Given the description of an element on the screen output the (x, y) to click on. 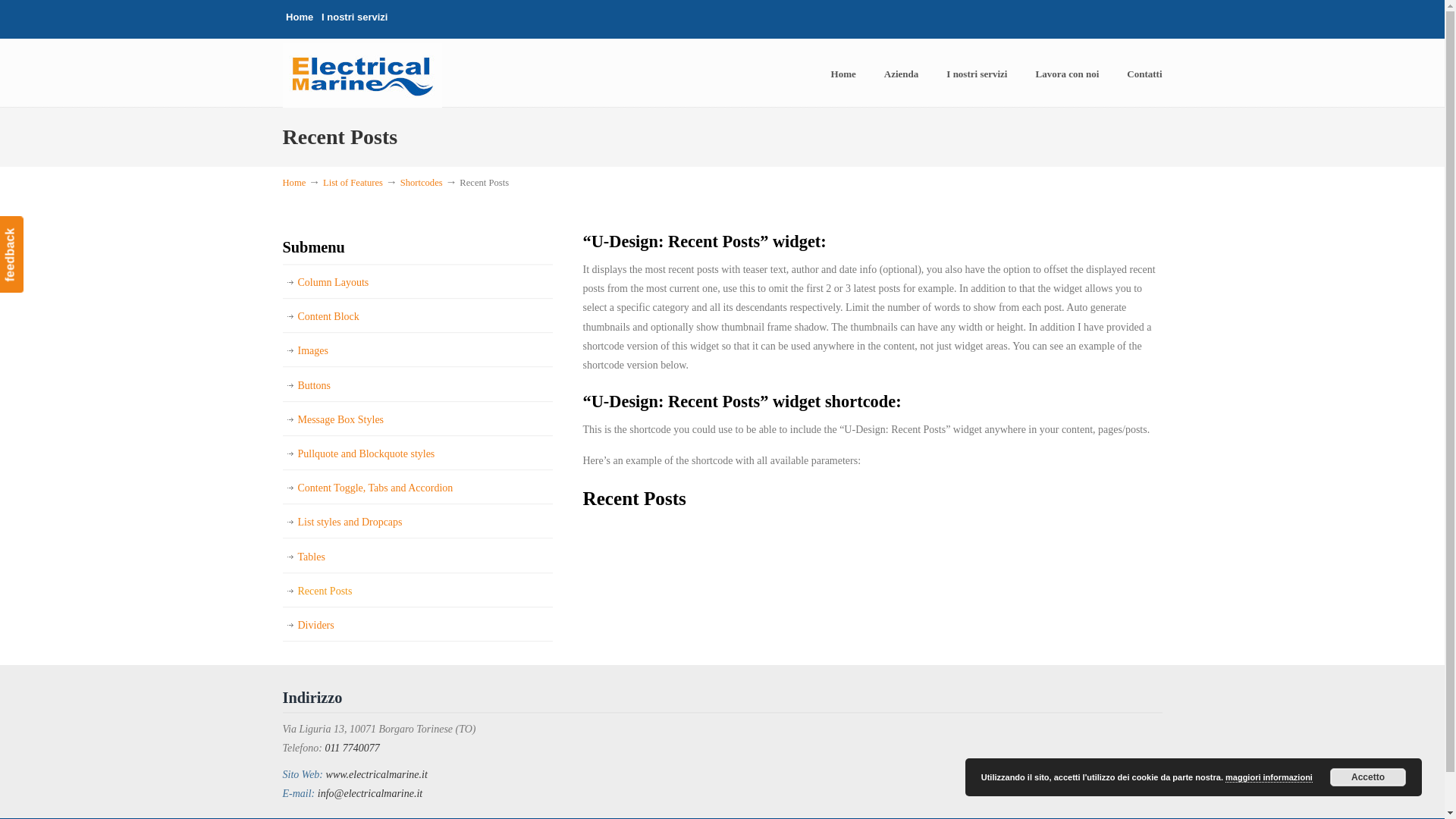
Images (416, 350)
Content Toggle, Tabs and Accordion (416, 487)
List of Features (352, 182)
Contatti (1144, 74)
011 7740077 (351, 747)
Column Layouts (416, 282)
Lavora con noi (1066, 74)
Message Box Styles (416, 419)
Home (293, 182)
Home (842, 74)
